Given the description of an element on the screen output the (x, y) to click on. 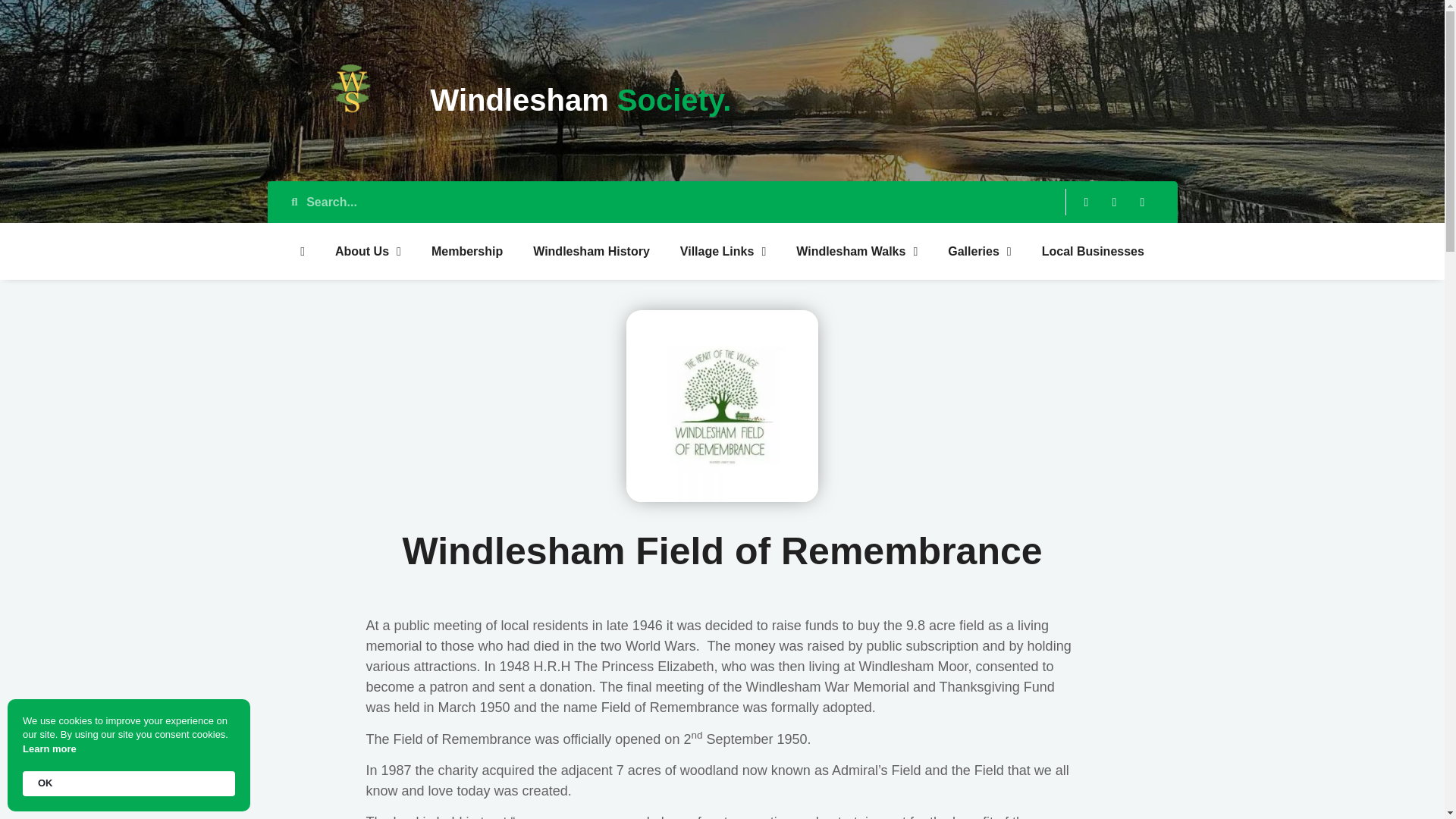
About Us (368, 250)
Windlesham Walks (856, 250)
Local Businesses (1092, 250)
Windlesham History (591, 250)
Membership (467, 250)
Village Links (722, 250)
Galleries (979, 250)
